Given the description of an element on the screen output the (x, y) to click on. 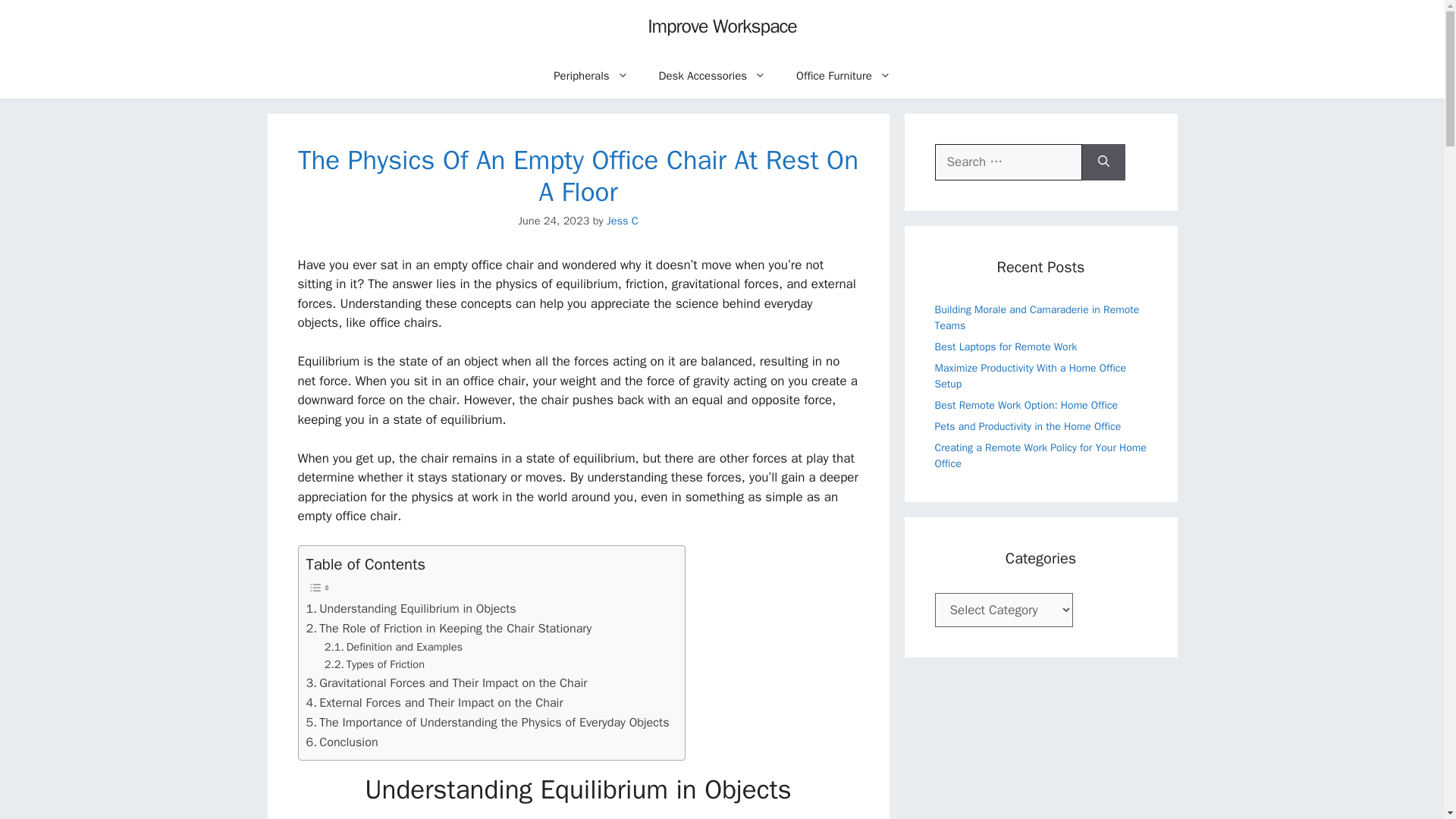
Conclusion (341, 742)
Pets and Productivity in the Home Office (1027, 426)
Types of Friction (374, 664)
External Forces and Their Impact on the Chair (434, 702)
Peripherals (590, 75)
View all posts by Jess C (623, 220)
Definition and Examples (393, 647)
External Forces and Their Impact on the Chair (434, 702)
Maximize Productivity With a Home Office Setup (1029, 375)
Gravitational Forces and Their Impact on the Chair (446, 682)
